Given the description of an element on the screen output the (x, y) to click on. 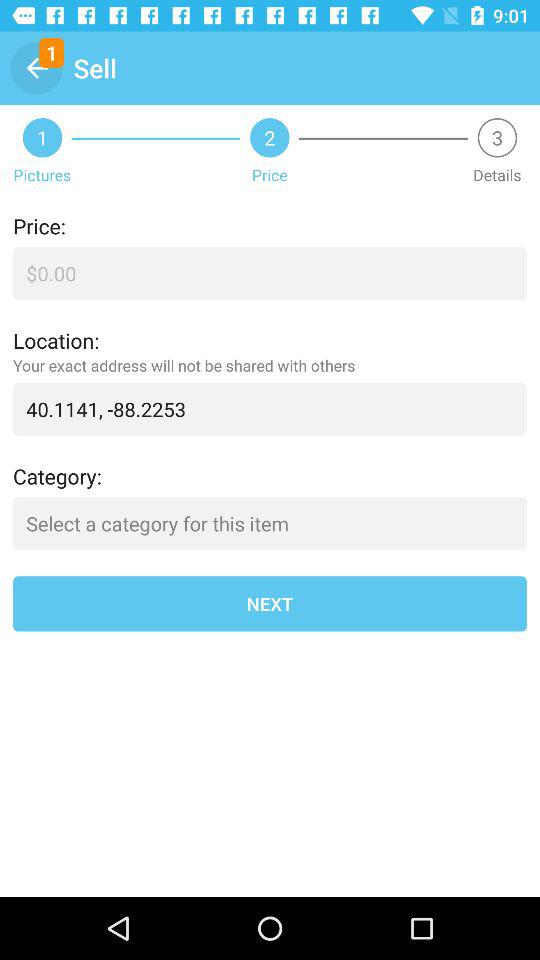
press select a category item (269, 523)
